Given the description of an element on the screen output the (x, y) to click on. 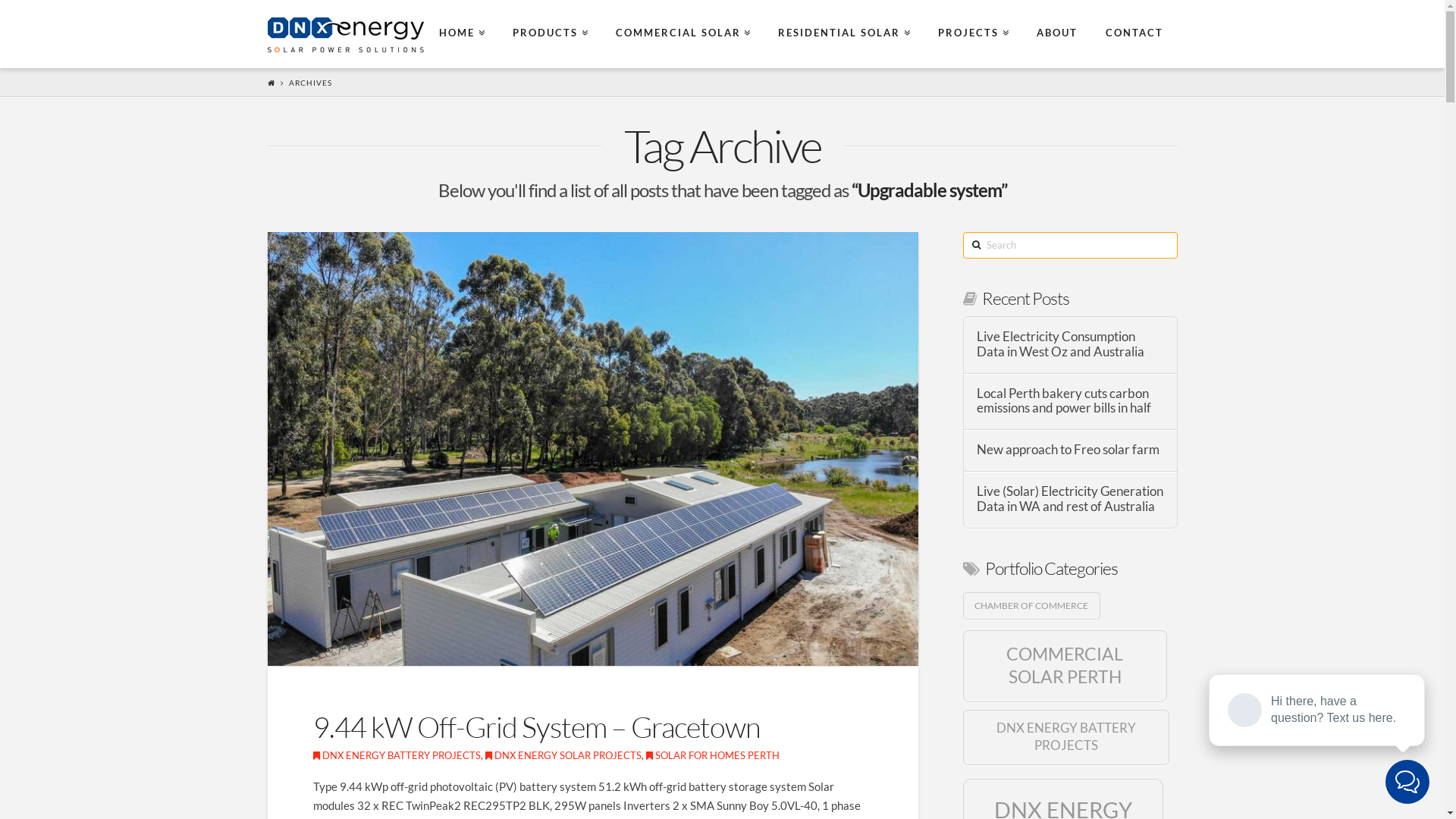
New approach to Freo solar farm Element type: text (1069, 450)
Live Electricity Consumption Data in West Oz and Australia Element type: text (1069, 344)
DNX ENERGY BATTERY PROJECTS Element type: text (396, 755)
ABOUT Element type: text (1056, 34)
PRODUCTS Element type: text (550, 34)
HOME Element type: text (461, 34)
CONTACT Element type: text (1133, 34)
CHAMBER OF COMMERCE Element type: text (1031, 605)
DNX ENERGY BATTERY PROJECTS Element type: text (1066, 737)
COMMERCIAL SOLAR PERTH Element type: text (1064, 665)
SOLAR FOR HOMES PERTH Element type: text (712, 755)
RESIDENTIAL SOLAR Element type: text (844, 34)
COMMERCIAL SOLAR Element type: text (682, 34)
PROJECTS Element type: text (973, 34)
DNX ENERGY SOLAR PROJECTS Element type: text (563, 755)
